Given the description of an element on the screen output the (x, y) to click on. 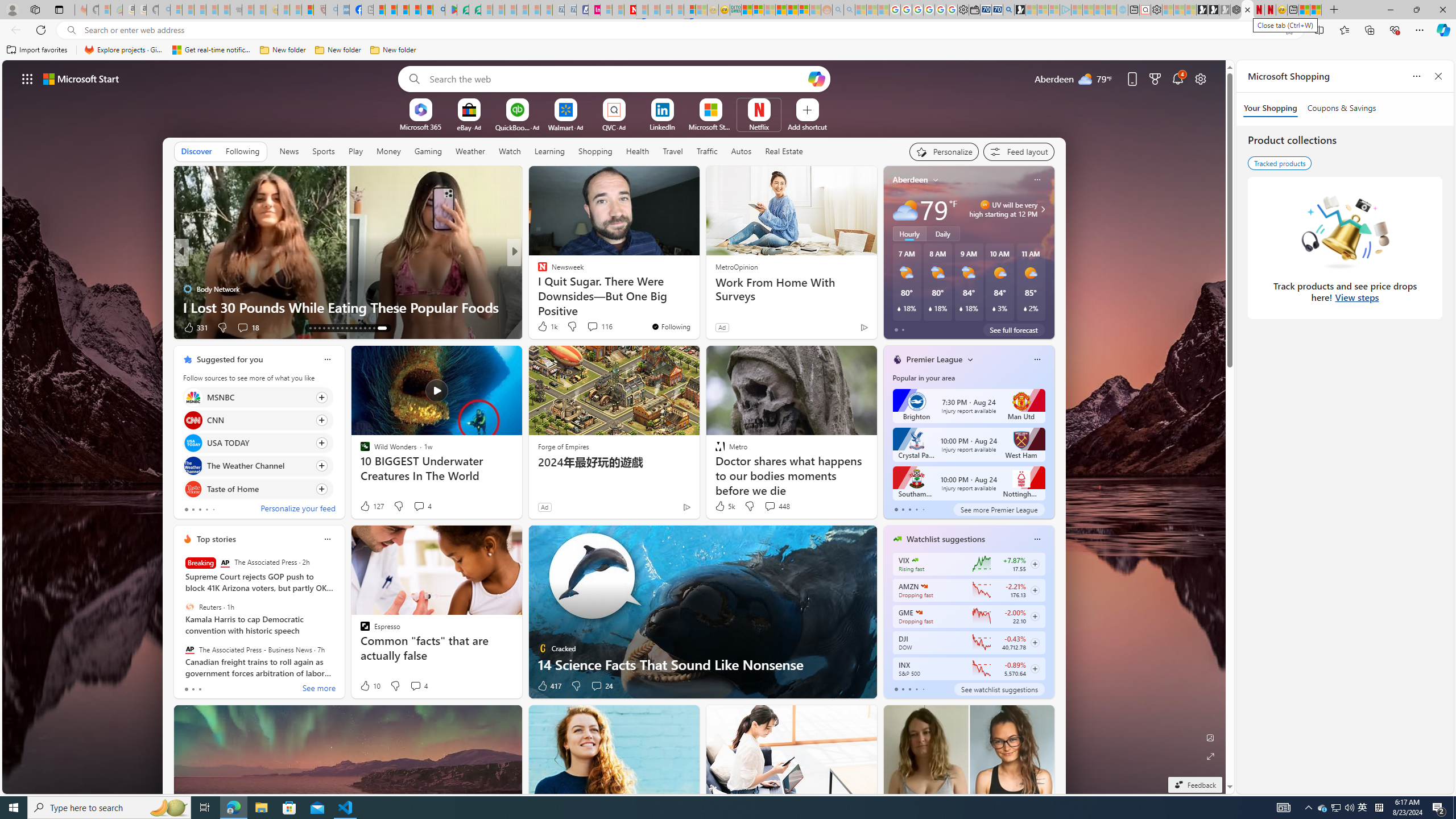
AutomationID: tab-41 (374, 328)
View comments 448 Comment (776, 505)
417 Like (548, 685)
App launcher (27, 78)
Body Network (187, 288)
View comments 18 Comment (247, 327)
MSNBC (192, 397)
View comments 24 Comment (601, 685)
Wildlife - MSN (1304, 9)
